Given the description of an element on the screen output the (x, y) to click on. 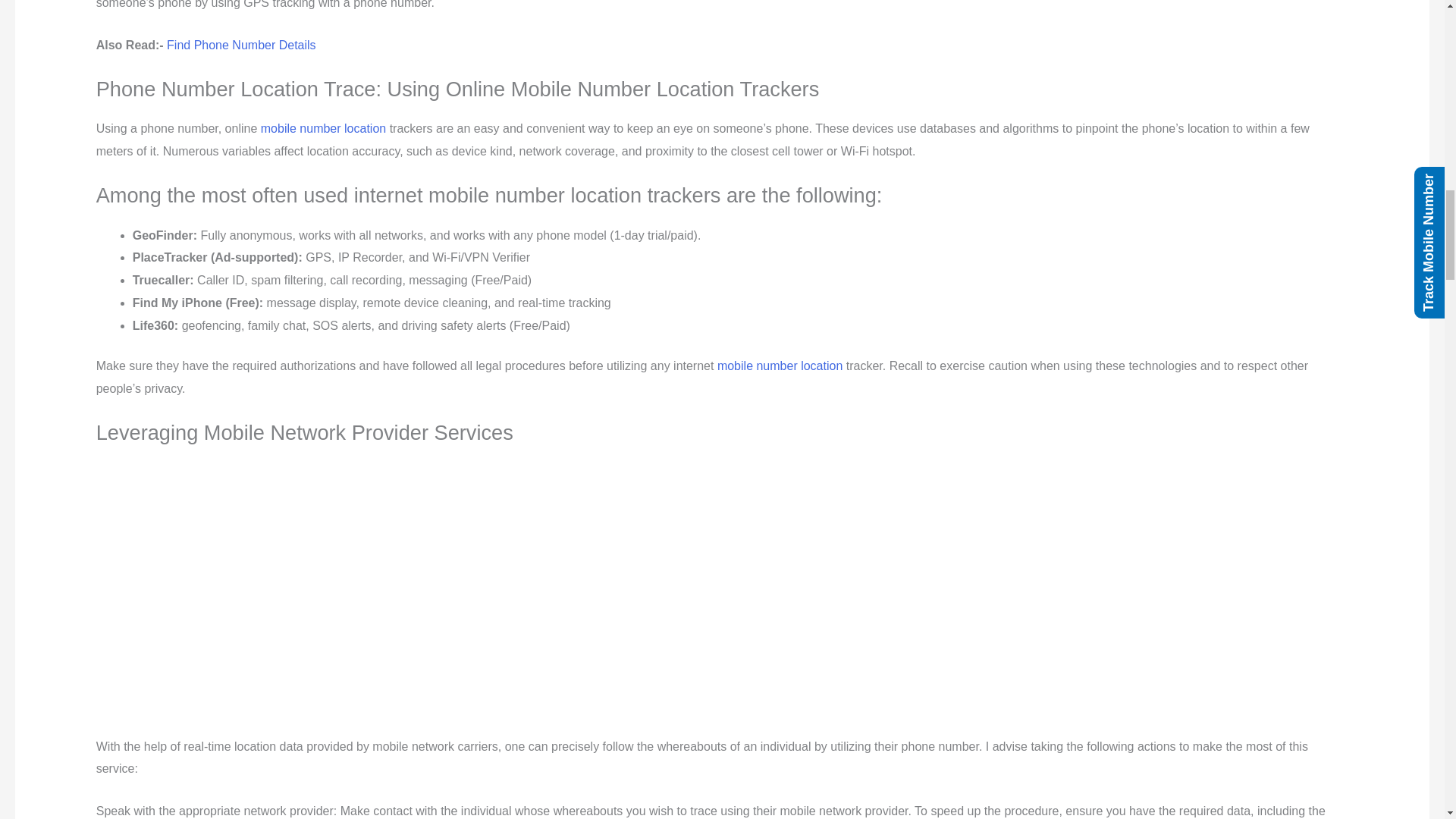
Find Phone Number Details (241, 44)
Click the link to check more about Track Mobile Phone (780, 365)
mobile number location (322, 128)
mobile number location (780, 365)
Click the link to check more about Track Mobile Phone (322, 128)
